Given the description of an element on the screen output the (x, y) to click on. 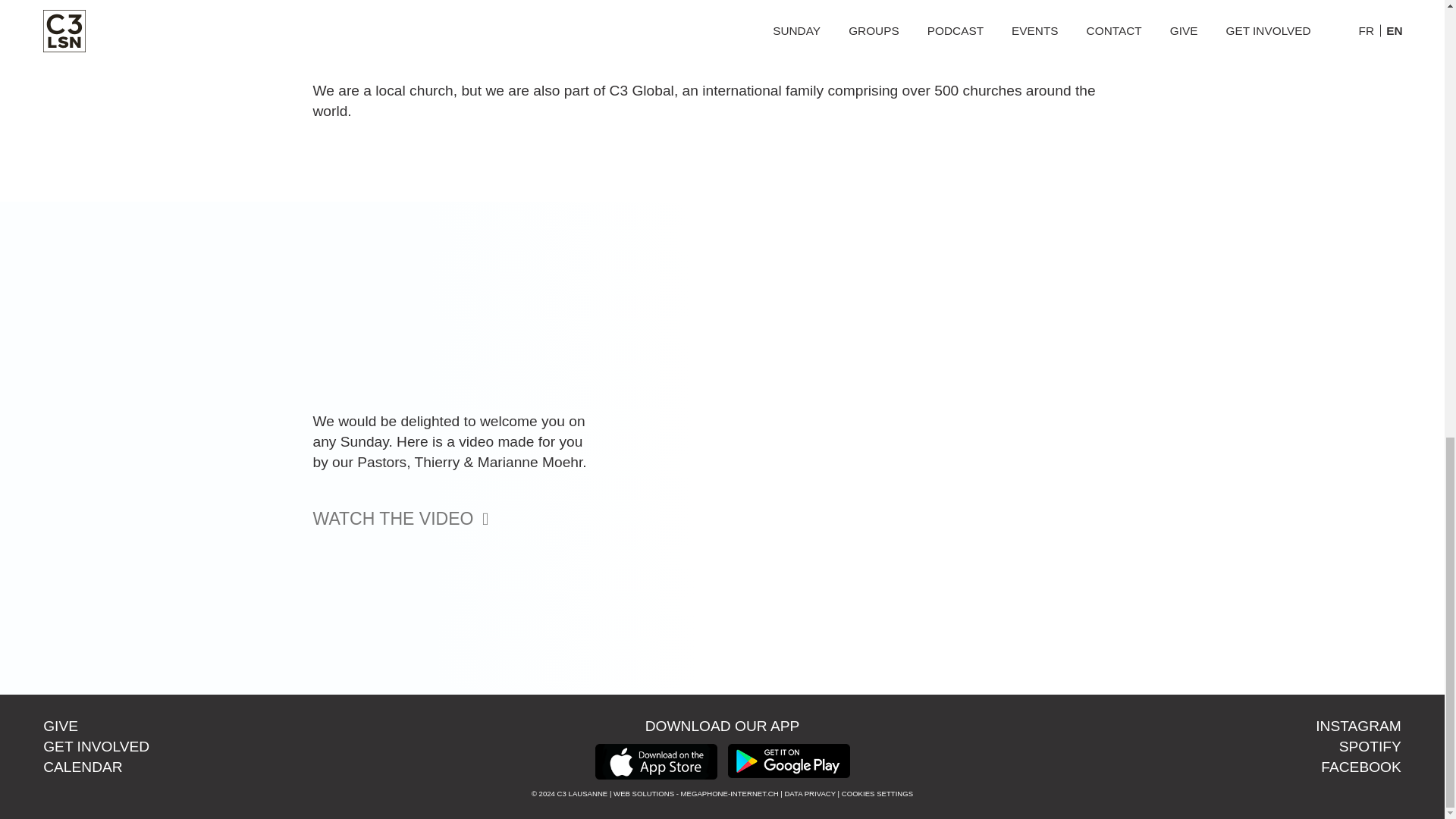
WATCH THE VIDEO (455, 518)
GET INVOLVED (96, 746)
GIVE (60, 725)
COOKIES SETTINGS (876, 793)
FACEBOOK (1360, 766)
SPOTIFY (1369, 746)
WEB SOLUTIONS - MEGAPHONE-INTERNET.CH (694, 793)
CALENDAR (82, 766)
INSTAGRAM (1358, 725)
